Given the description of an element on the screen output the (x, y) to click on. 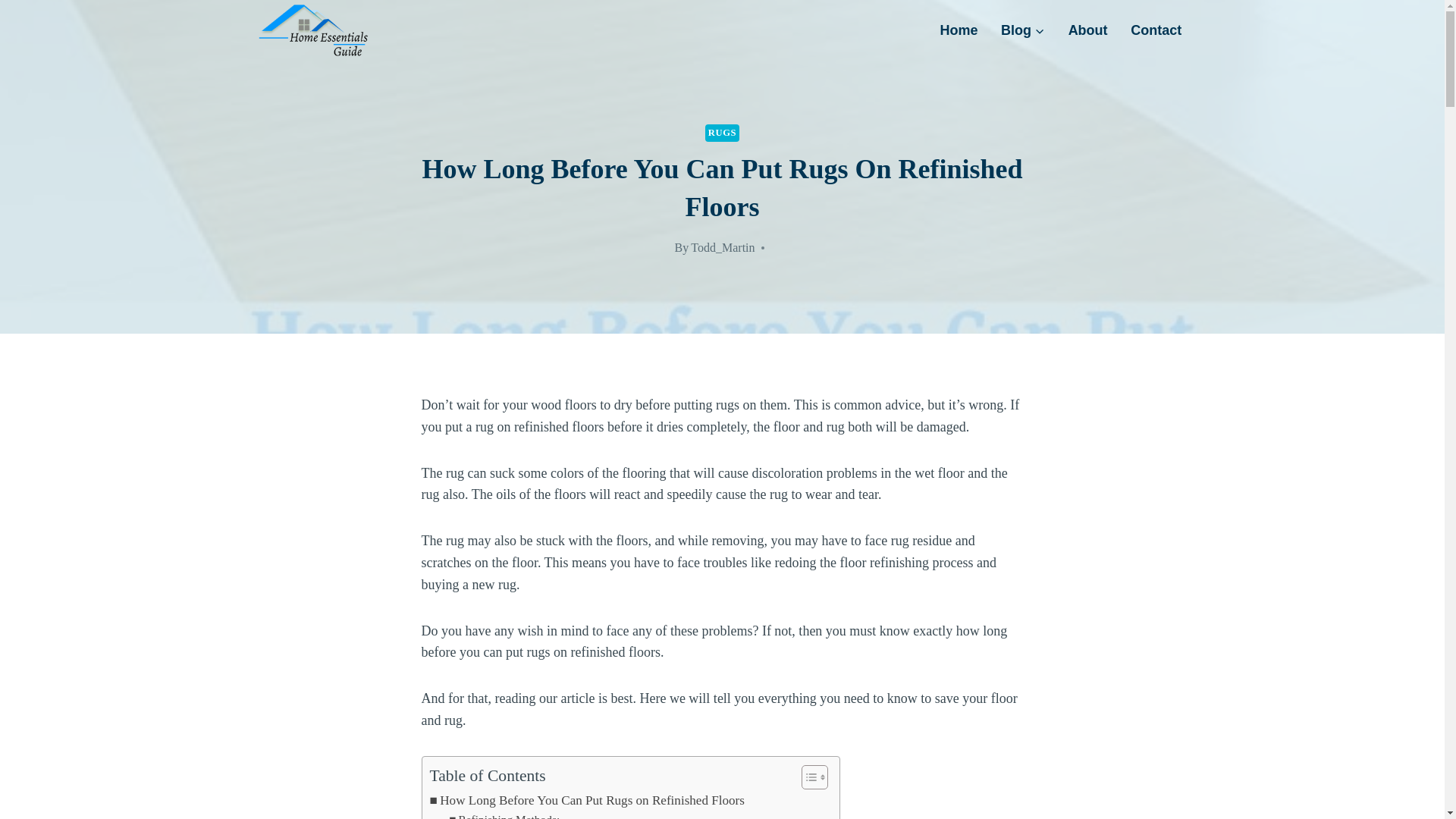
Blog (1023, 30)
Home (959, 30)
Refinishing Methods: (503, 814)
How Long Before You Can Put Rugs on Refinished Floors (586, 800)
Contact (1156, 30)
How Long Before You Can Put Rugs on Refinished Floors (586, 800)
RUGS (721, 132)
Refinishing Methods: (503, 814)
About (1088, 30)
